Given the description of an element on the screen output the (x, y) to click on. 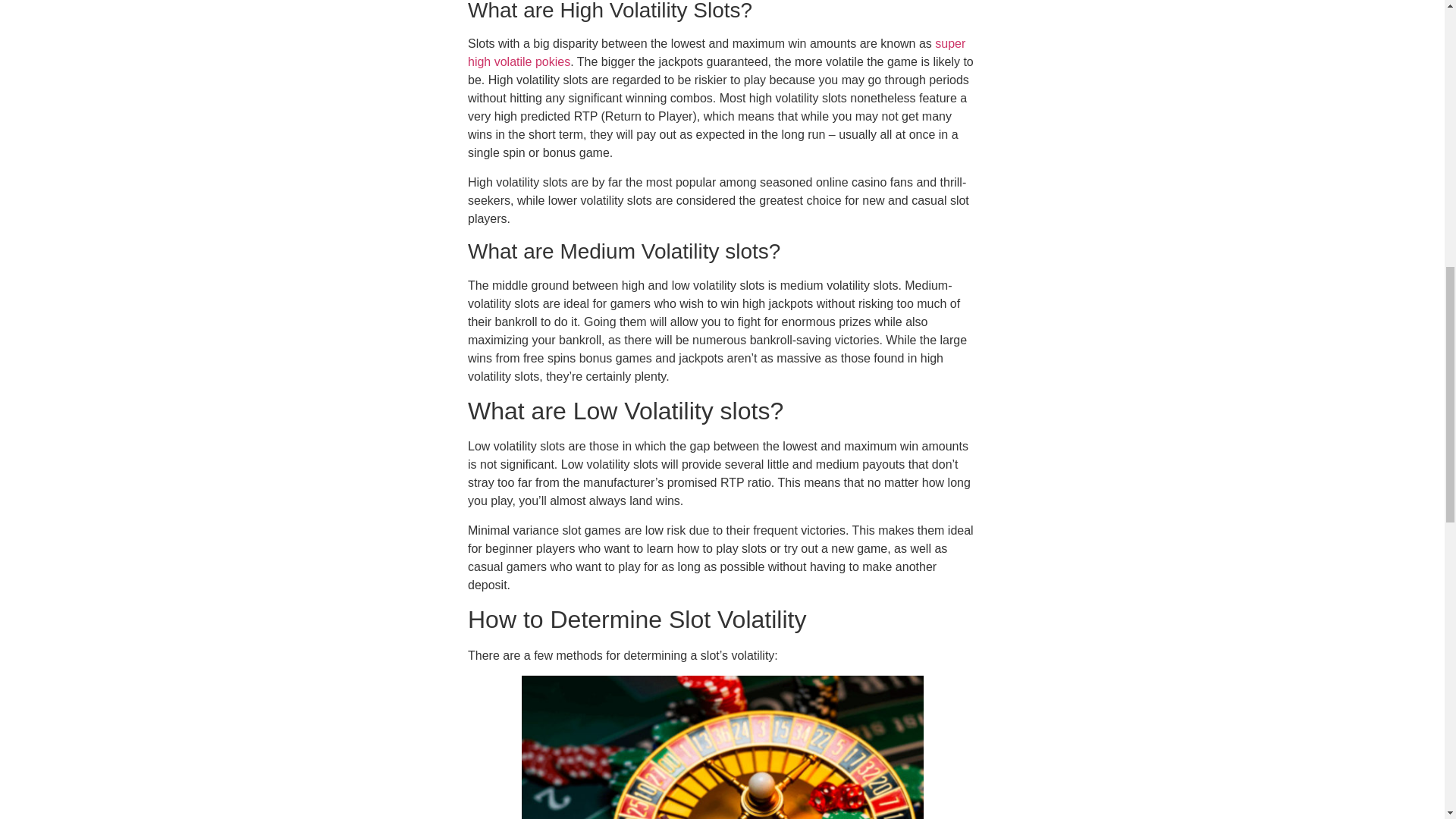
super high volatile pokies (716, 51)
